Given the description of an element on the screen output the (x, y) to click on. 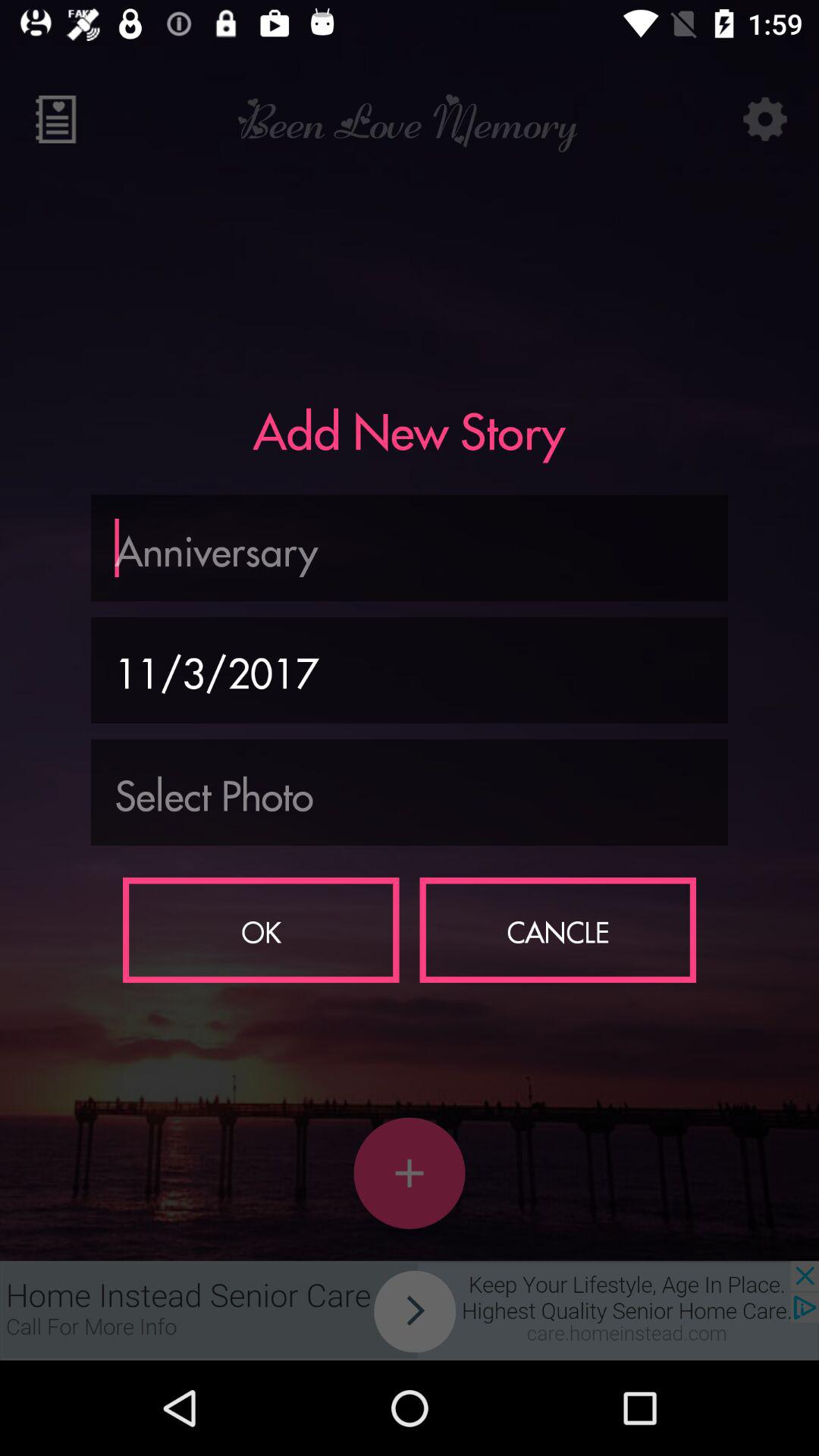
select the ok on the left (260, 929)
